Given the description of an element on the screen output the (x, y) to click on. 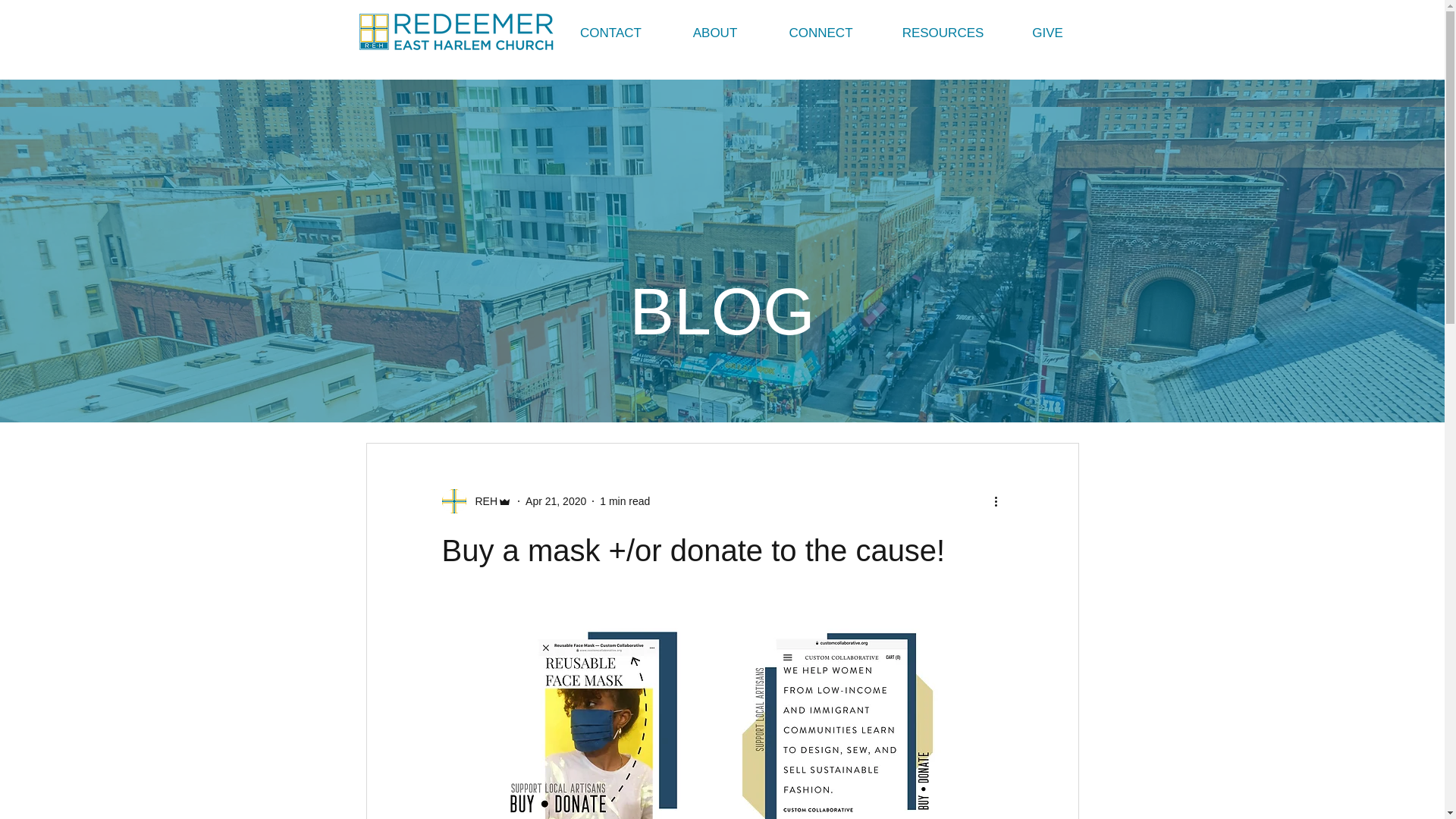
REH (481, 500)
Apr 21, 2020 (555, 500)
1 min read (624, 500)
GIVE (1047, 32)
